Given the description of an element on the screen output the (x, y) to click on. 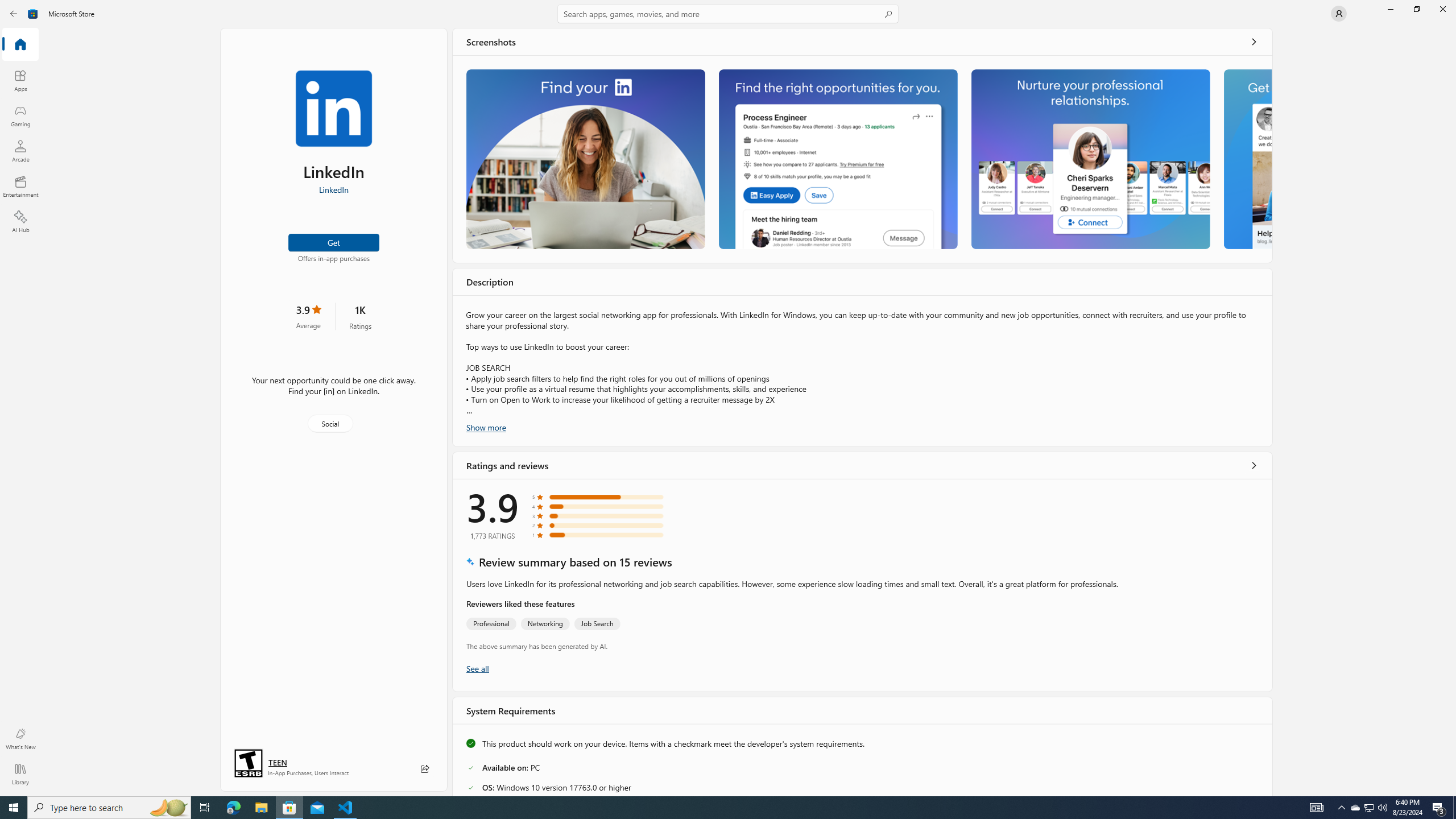
Age rating: TEEN. Click for more information. (276, 762)
Get (334, 241)
Social (329, 423)
Back (13, 13)
Screenshot 1 (584, 158)
Search (727, 13)
See all (1253, 41)
Screenshot 4 (1247, 158)
Show all ratings and reviews (477, 667)
LinkedIn (332, 189)
AutomationID: NavigationControl (728, 398)
Show more (485, 426)
Share (424, 769)
